Given the description of an element on the screen output the (x, y) to click on. 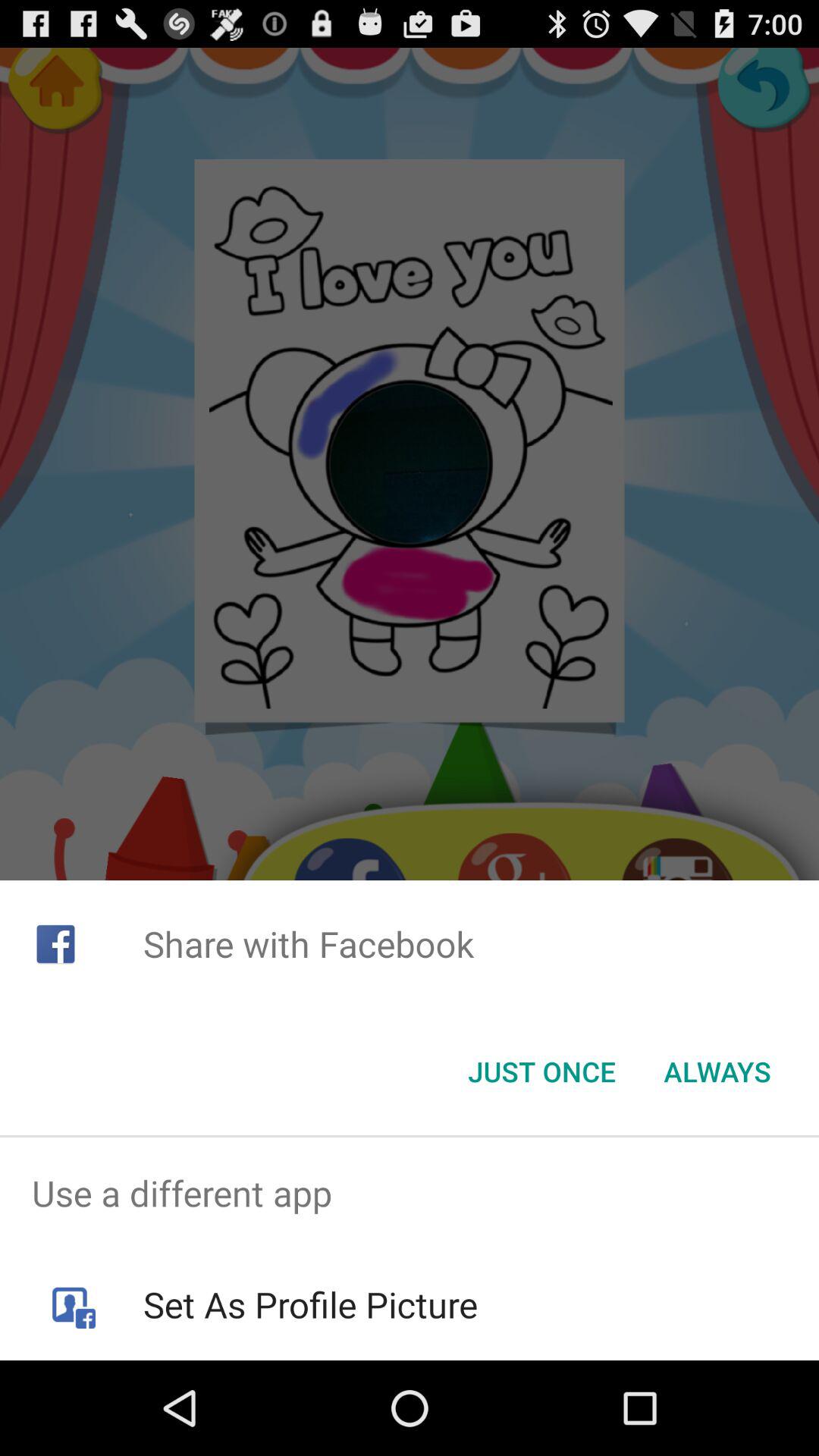
press the item above set as profile icon (409, 1192)
